Given the description of an element on the screen output the (x, y) to click on. 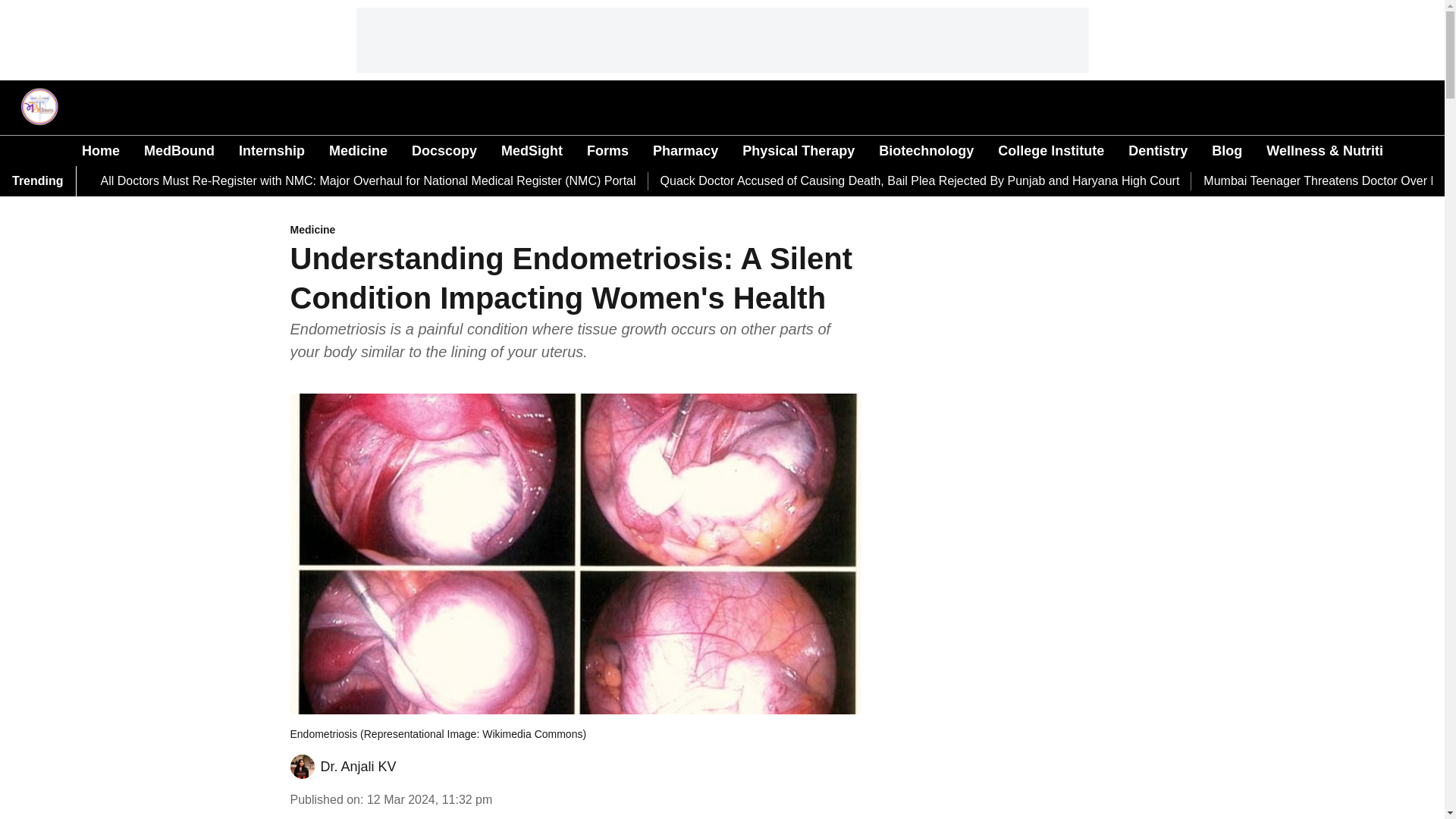
Physical Therapy (798, 150)
Biotechnology (926, 150)
Medicine (358, 150)
2024-03-12 15:32 (429, 799)
Internship (271, 150)
Dentistry (1158, 150)
MedSight (531, 150)
Blog (1226, 150)
Pharmacy (684, 150)
